Given the description of an element on the screen output the (x, y) to click on. 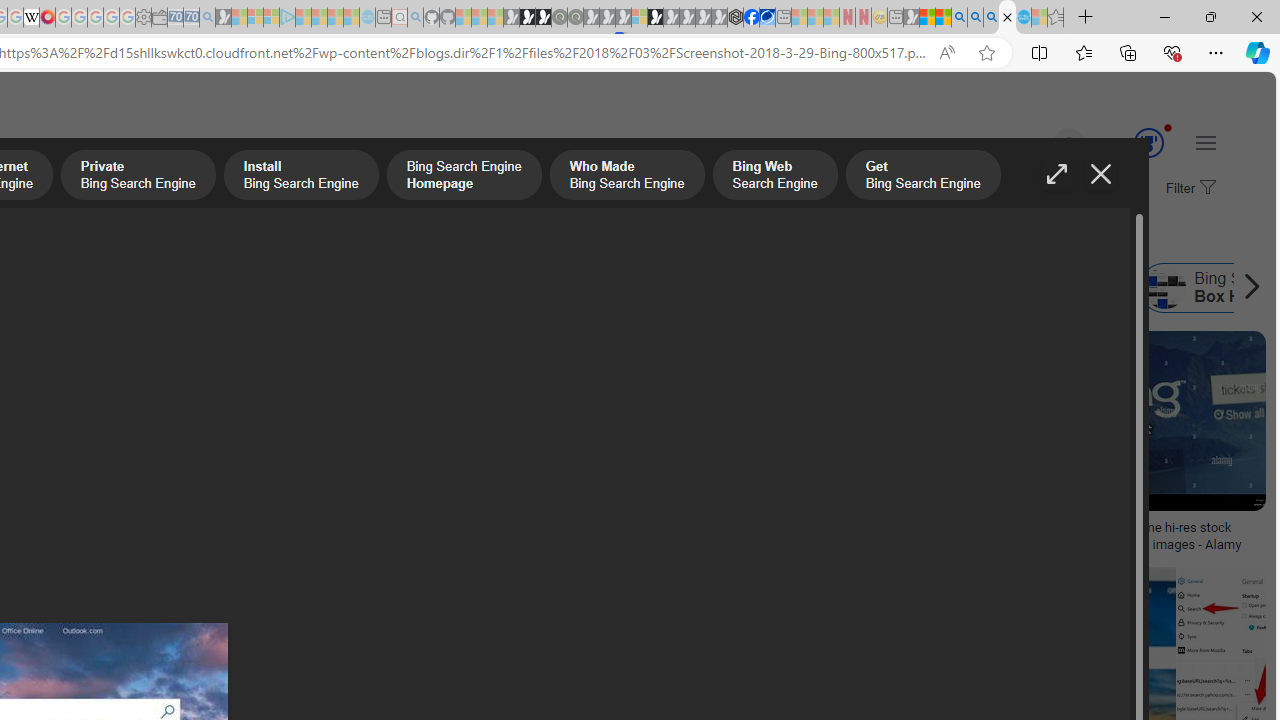
Nordace | Facebook (751, 17)
Eugene (1041, 143)
Play Zoo Boom in your browser | Games from Microsoft Start (527, 17)
Who Made Bing Search Engine (516, 287)
Private Bing Search Engine (138, 177)
Home | Sky Blue Bikes - Sky Blue Bikes - Sleeping (367, 17)
Bing Home Search Site (1051, 287)
